Given the description of an element on the screen output the (x, y) to click on. 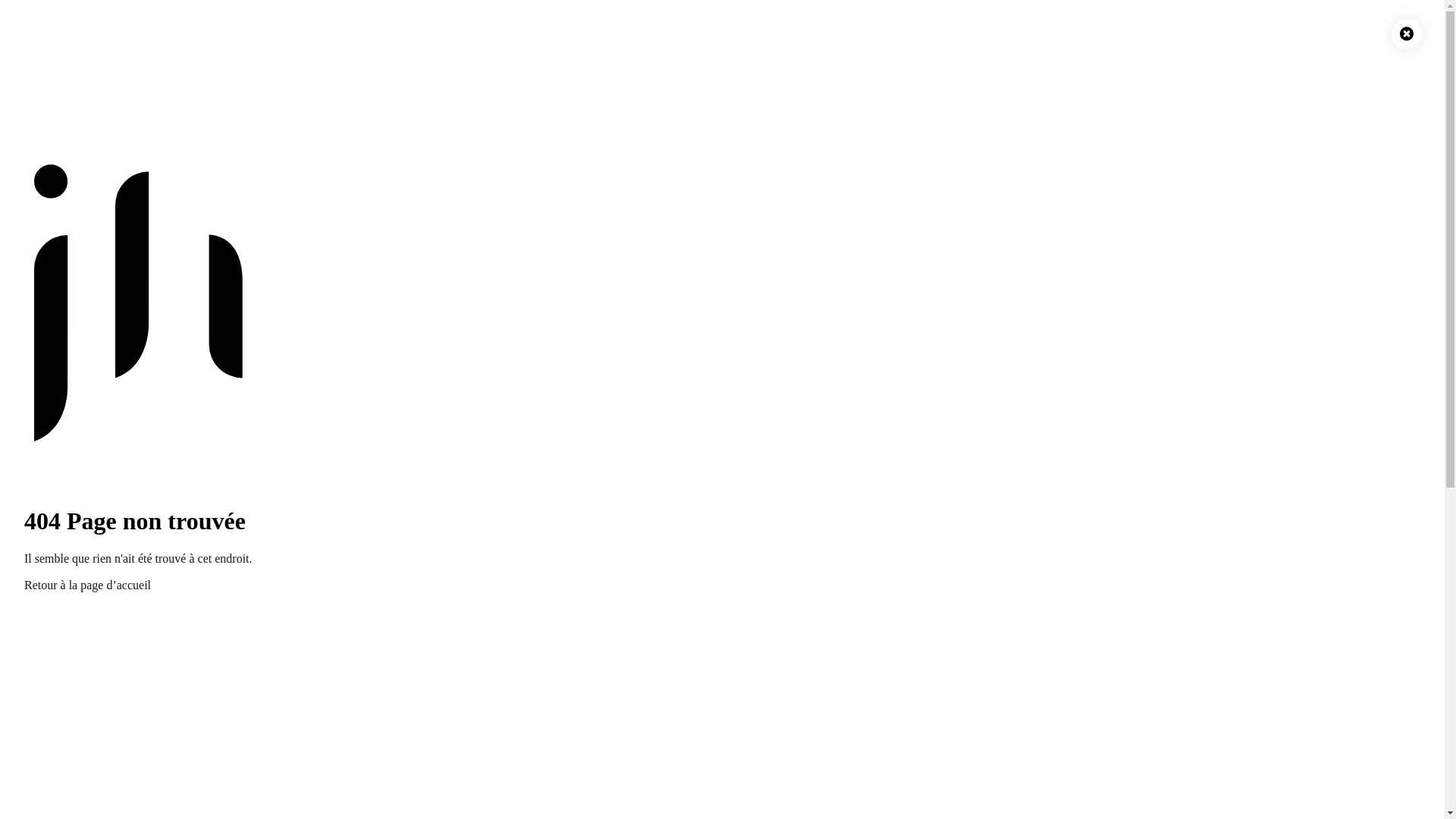
Justine Henin Element type: text (80, 114)
Restaurant Element type: text (73, 350)
Justine Henin Foundation Element type: text (109, 155)
Skip to main content Element type: text (16, 16)
Infrastructures Element type: text (113, 282)
Cotisation et location Element type: text (130, 322)
Club Justine Henin Element type: text (94, 141)
Cours et stages Element type: text (114, 336)
Restaurant Element type: text (73, 761)
Tennis Element type: text (63, 309)
Contact Element type: text (66, 559)
Justine Henin Academy Element type: text (105, 128)
Tennis Element type: text (63, 734)
Club Element type: text (59, 268)
